Given the description of an element on the screen output the (x, y) to click on. 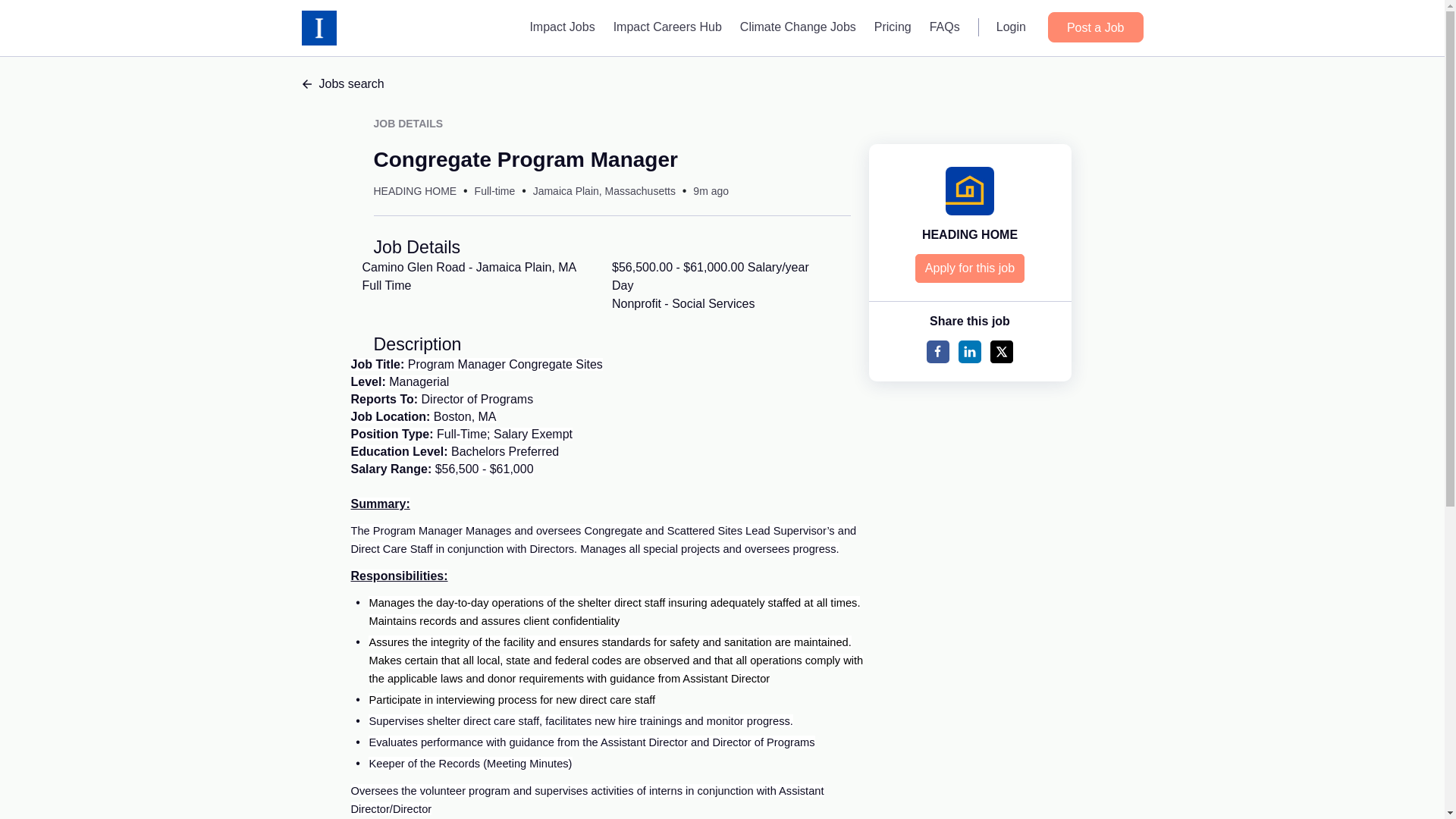
Apply for this job (970, 267)
Share to FB (937, 351)
Climate Change Jobs (797, 26)
Share to Linkedin (969, 351)
HEADING HOME (969, 234)
Full-time (494, 191)
Share to Twitter (1001, 351)
Impact Jobs (561, 26)
Jamaica Plain, Massachusetts (603, 191)
HEADING HOME (414, 191)
